Given the description of an element on the screen output the (x, y) to click on. 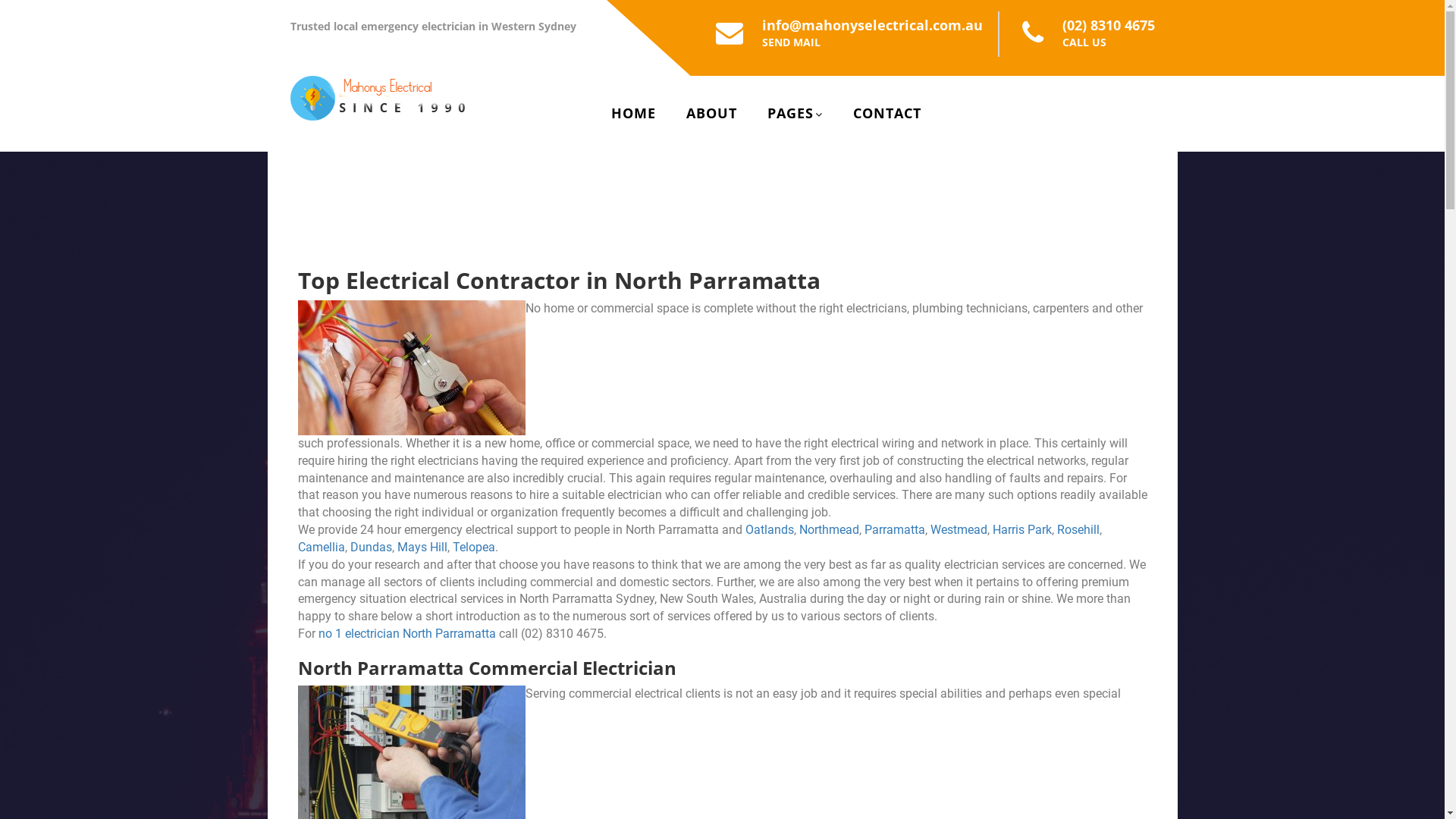
CONTACT Element type: text (887, 112)
Rosehill Element type: text (1078, 529)
HOME Element type: text (633, 112)
no 1 electrician North Parramatta Element type: text (406, 633)
Harris Park Element type: text (1021, 529)
Oatlands Element type: text (768, 529)
Dundas Element type: text (371, 546)
Northmead Element type: text (829, 529)
Telopea Element type: text (472, 546)
ABOUT Element type: text (711, 112)
Mays Hill Element type: text (422, 546)
Westmead Element type: text (957, 529)
Parramatta Element type: text (894, 529)
PAGES Element type: text (794, 112)
Camellia Element type: text (320, 546)
